Given the description of an element on the screen output the (x, y) to click on. 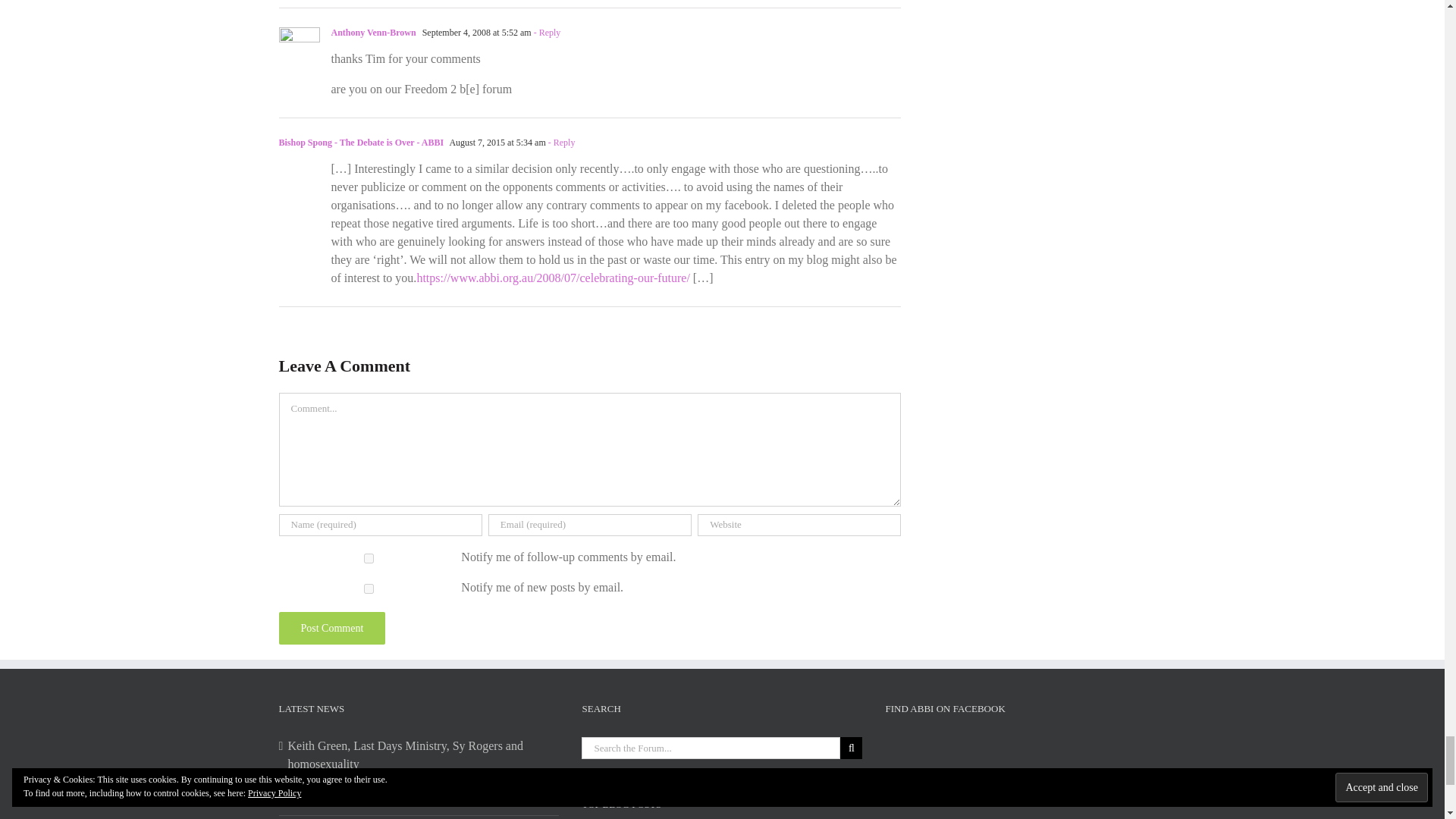
Post Comment (332, 627)
subscribe (369, 588)
subscribe (369, 558)
